Given the description of an element on the screen output the (x, y) to click on. 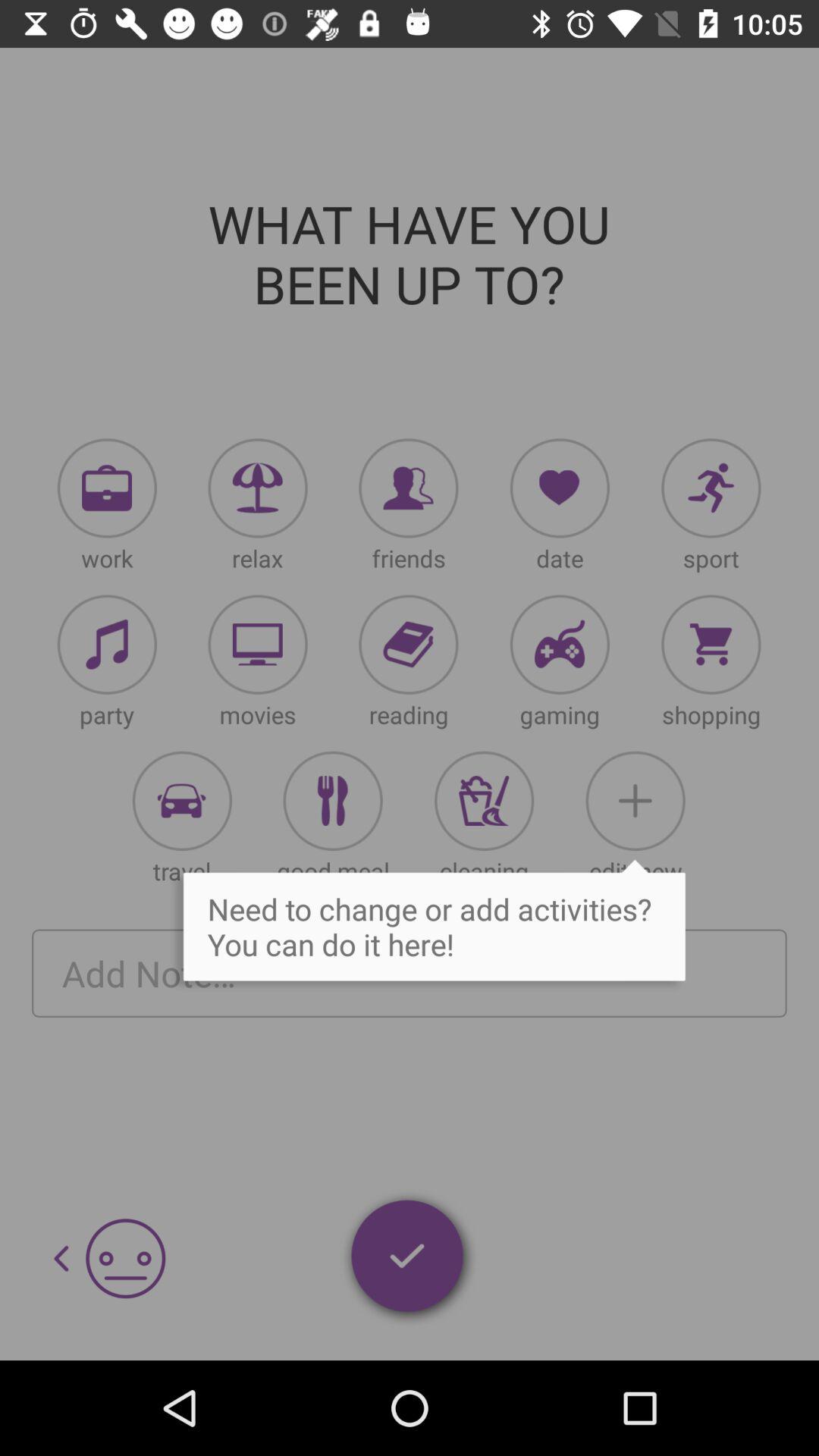
select reading (408, 644)
